Given the description of an element on the screen output the (x, y) to click on. 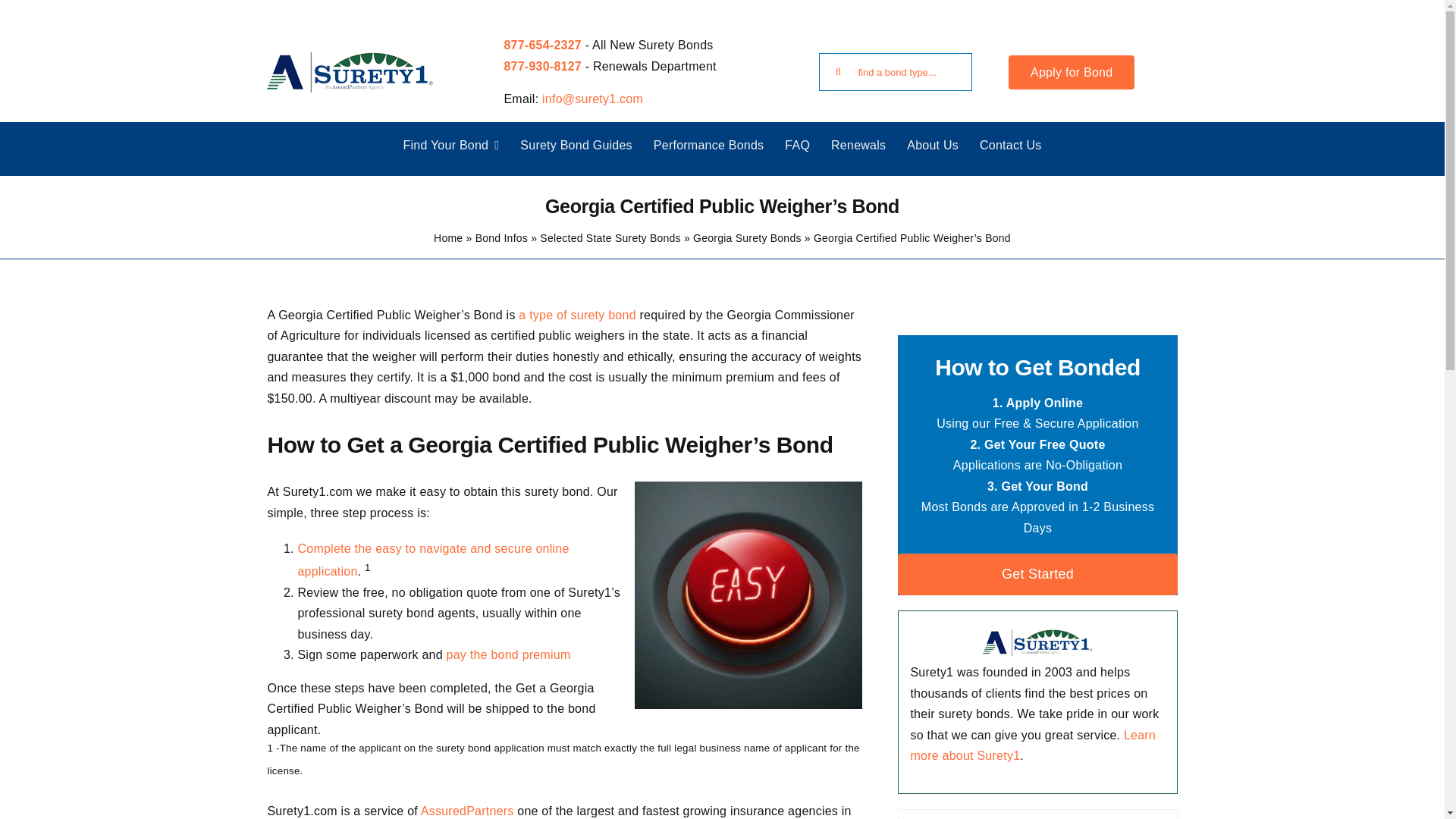
877-654-2327 (541, 44)
logo-sidebar-145 (1037, 641)
Apply for Bond (1071, 72)
Find Your Bond (450, 144)
877-930-8127 (541, 65)
